Given the description of an element on the screen output the (x, y) to click on. 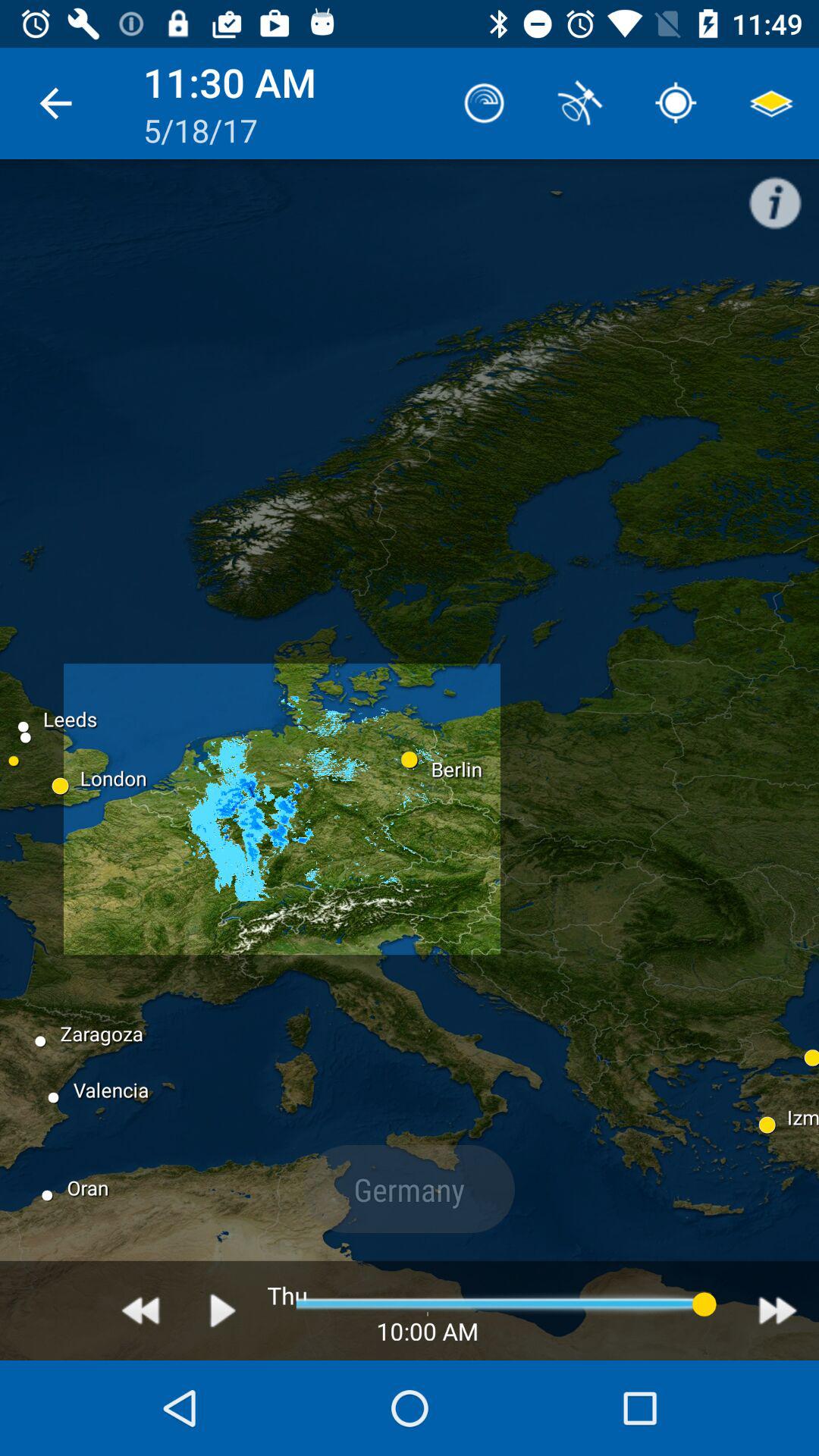
rewind (140, 1310)
